Given the description of an element on the screen output the (x, y) to click on. 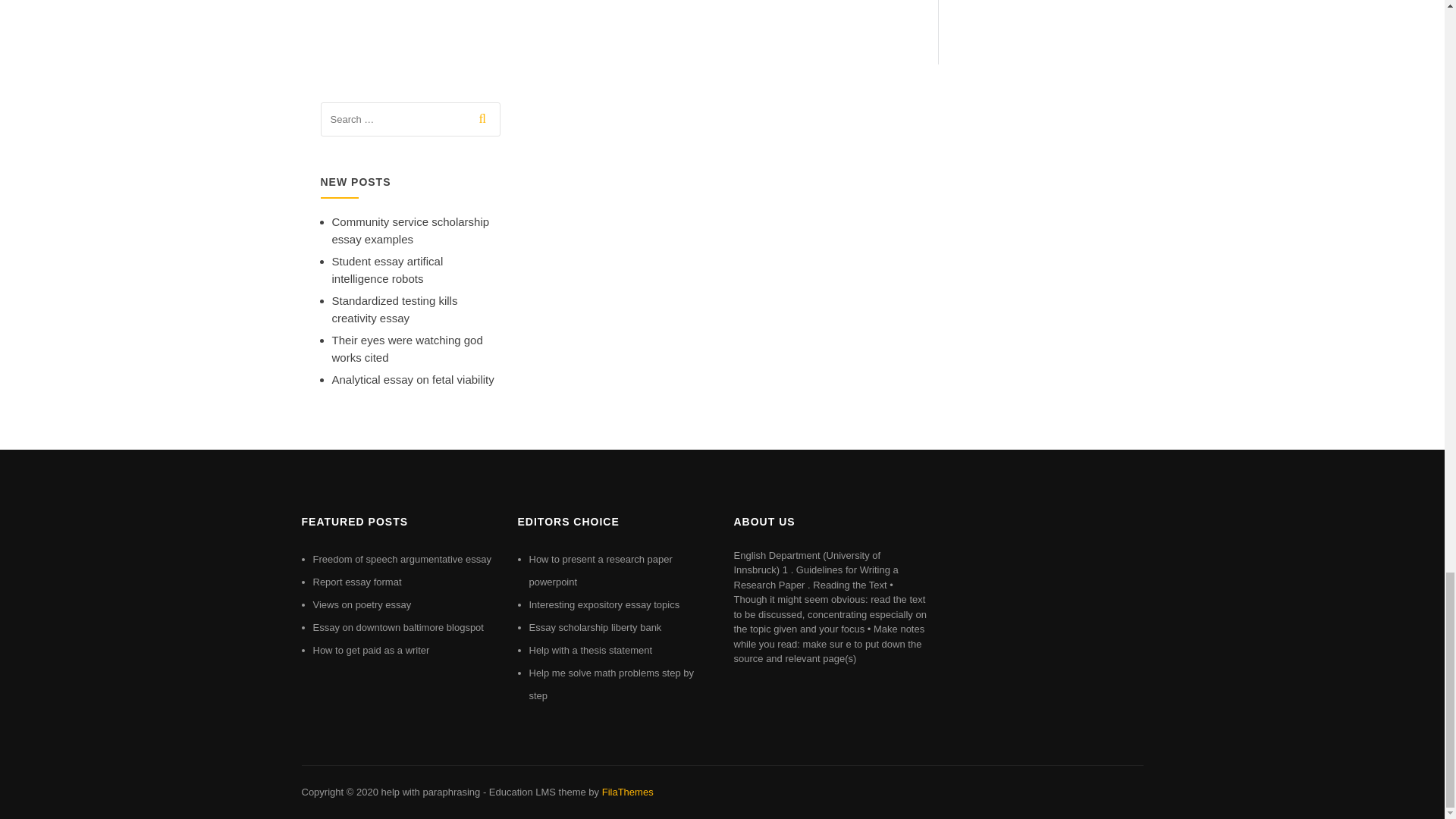
Community service scholarship essay examples (410, 230)
Essay on downtown baltimore blogspot (398, 627)
help with paraphrasing (430, 791)
help with paraphrasing (430, 791)
How to present a research paper powerpoint (600, 570)
Help me solve math problems step by step (611, 684)
Student essay artifical intelligence robots (387, 269)
Help with a thesis statement (590, 650)
Views on poetry essay (361, 604)
Freedom of speech argumentative essay (402, 559)
Report essay format (357, 582)
Standardized testing kills creativity essay (394, 309)
Their eyes were watching god works cited (407, 348)
Interesting expository essay topics (604, 604)
Essay scholarship liberty bank (595, 627)
